Given the description of an element on the screen output the (x, y) to click on. 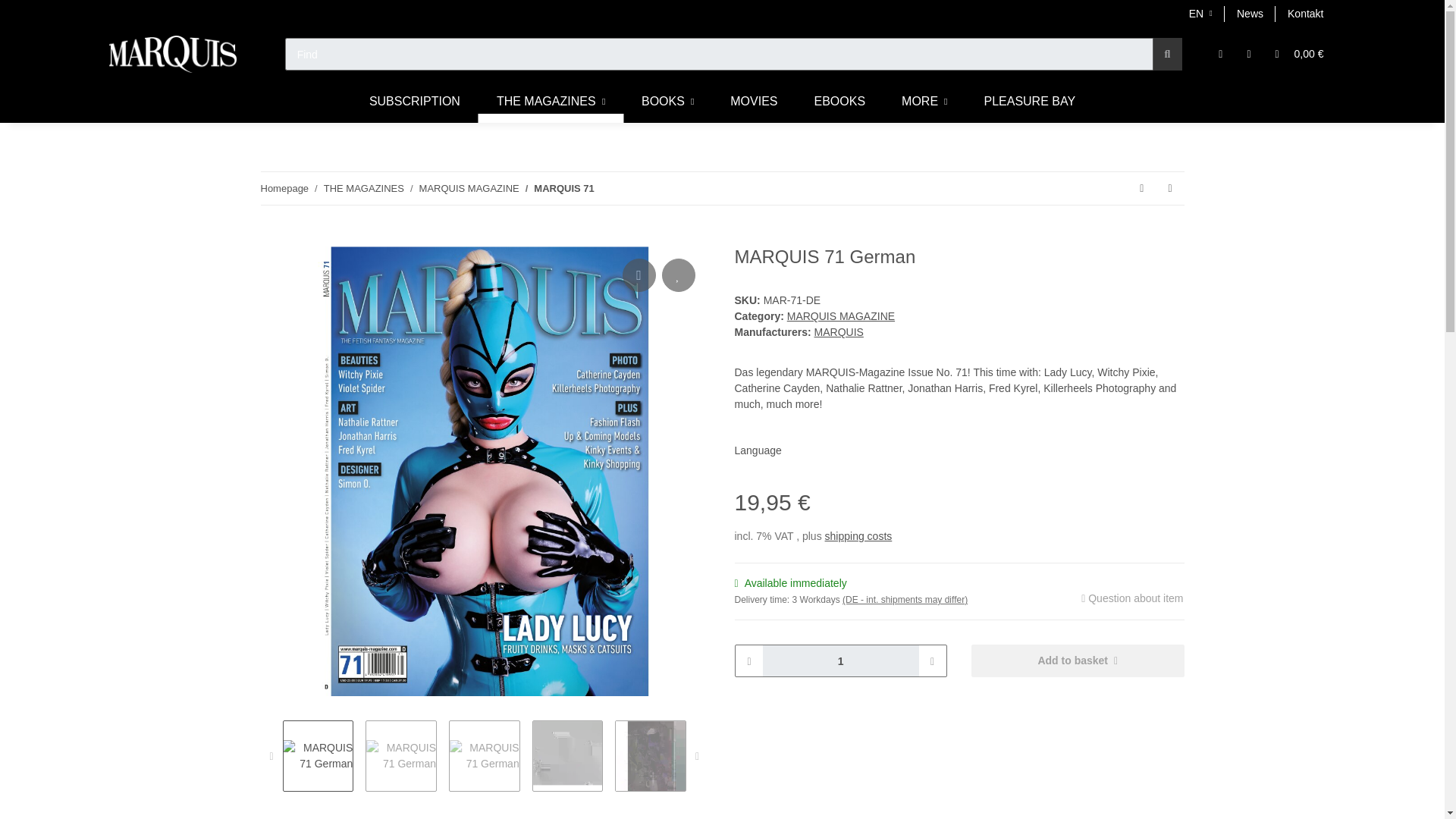
MOVIES (752, 101)
BOOKS (667, 101)
THE MAGAZINES (551, 101)
EBOOKS (839, 101)
EBOOKS (839, 101)
Kontakt (1305, 13)
BOOKS (667, 101)
THE MAGAZINES (551, 101)
SUBSCRIPTION (414, 101)
Kontaktformular (1305, 13)
News (1249, 13)
Homepage (284, 188)
PLEASURE BAY (1029, 101)
BOOKS (667, 101)
